Given the description of an element on the screen output the (x, y) to click on. 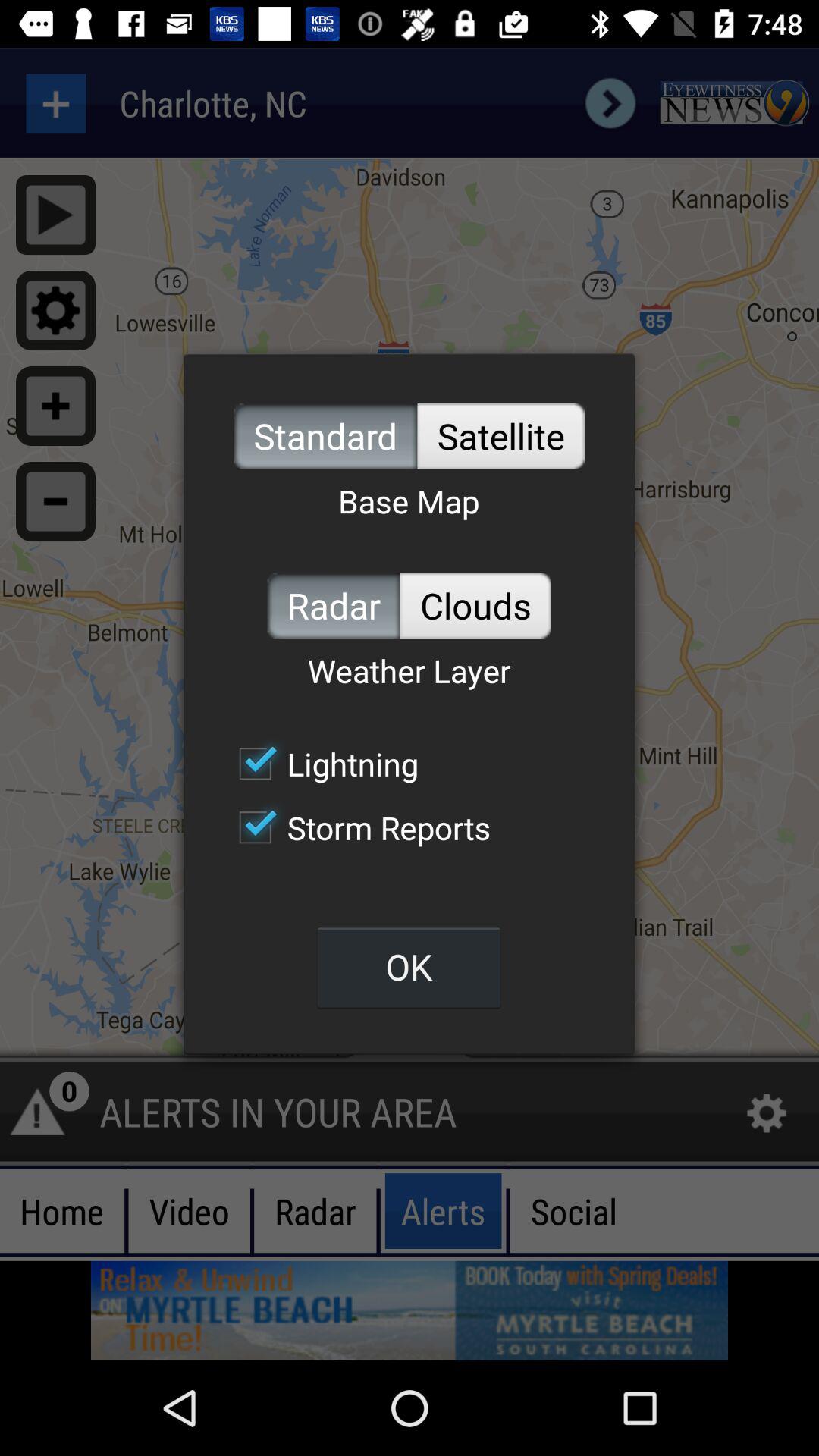
click the item above the base map (500, 436)
